Given the description of an element on the screen output the (x, y) to click on. 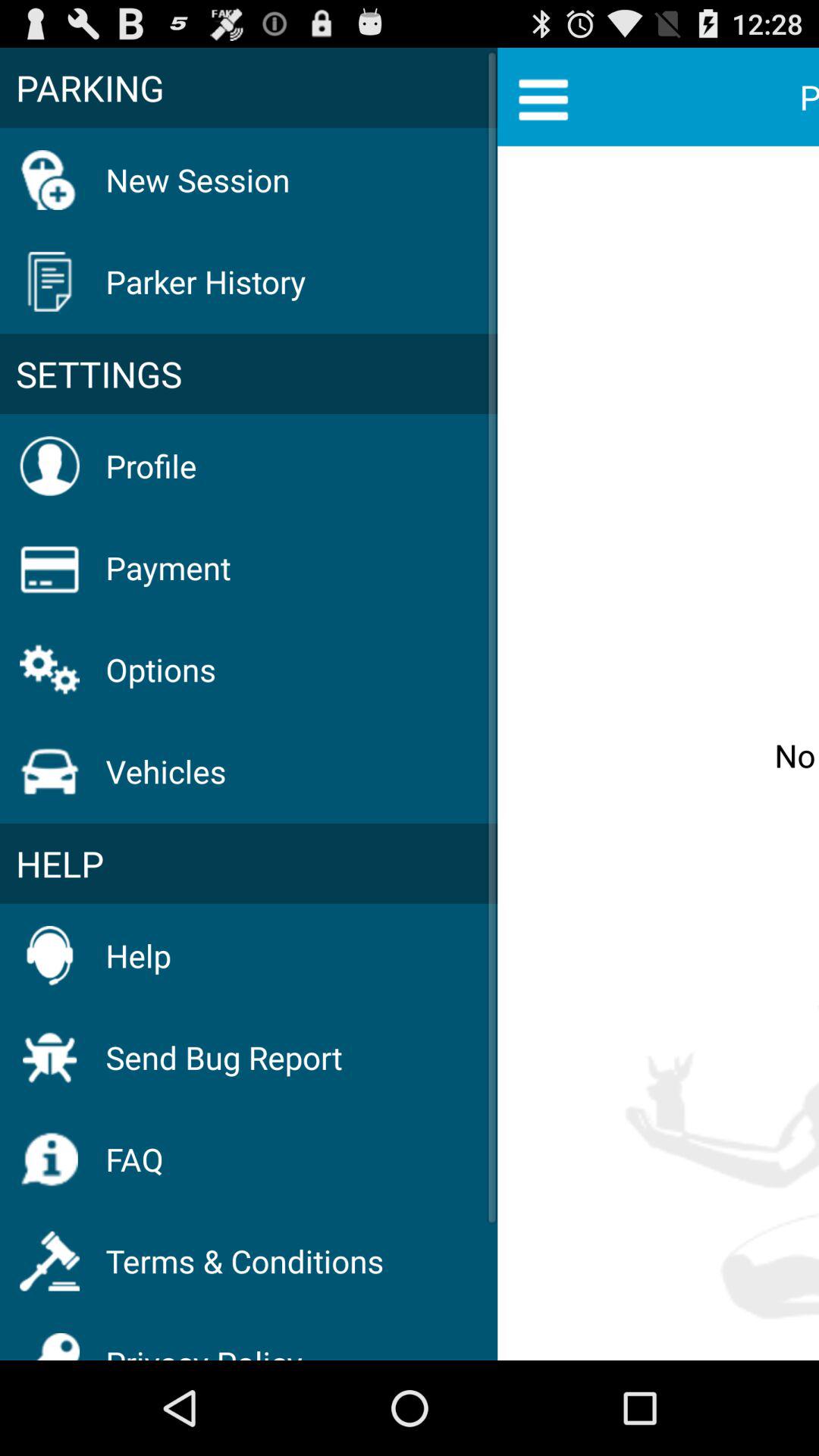
tap icon above the faq (223, 1056)
